Given the description of an element on the screen output the (x, y) to click on. 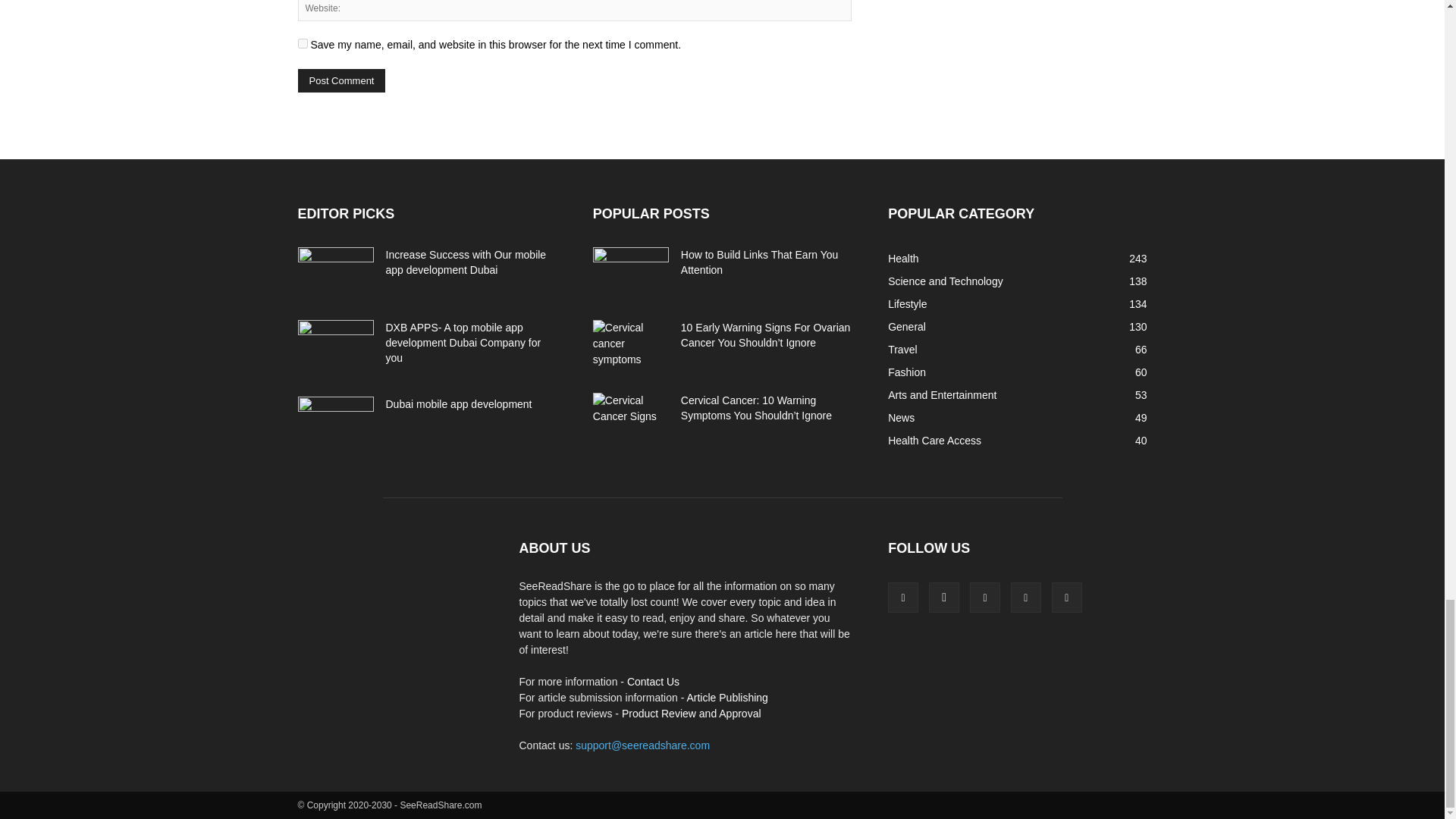
Post Comment (341, 80)
yes (302, 43)
